Given the description of an element on the screen output the (x, y) to click on. 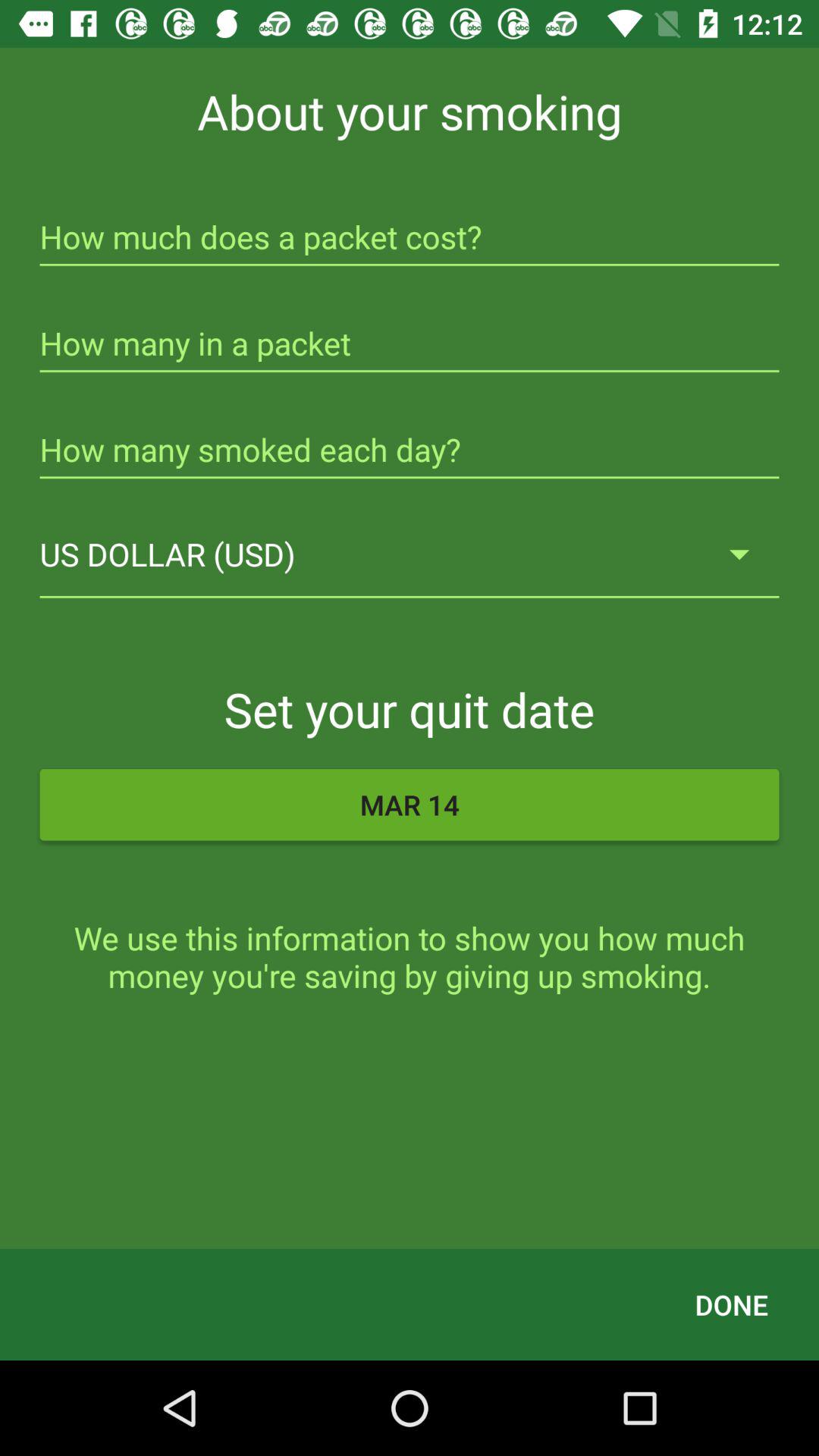
select the icon at the bottom right corner (731, 1304)
